Given the description of an element on the screen output the (x, y) to click on. 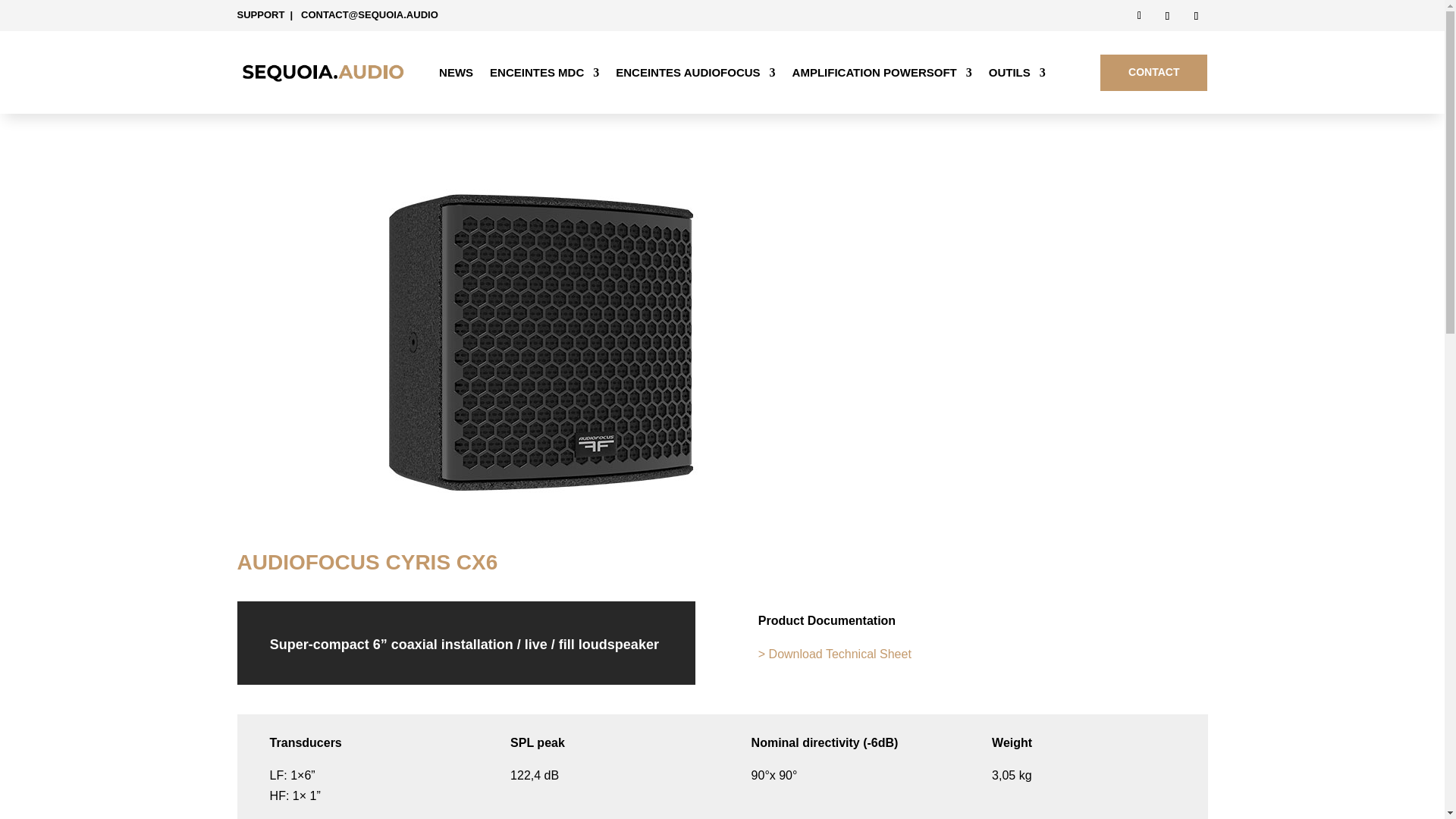
ENCEINTES MDC (543, 75)
Suivez sur Facebook (1139, 15)
AMPLIFICATION POWERSOFT (882, 75)
Suivez sur Youtube (1196, 15)
NEWS (456, 75)
ENCEINTES AUDIOFOCUS (694, 75)
sequoia-audio (321, 71)
OUTILS (1016, 75)
Suivez sur LinkedIn (1166, 15)
SUPPORT (259, 14)
CONTACT (1153, 72)
